Given the description of an element on the screen output the (x, y) to click on. 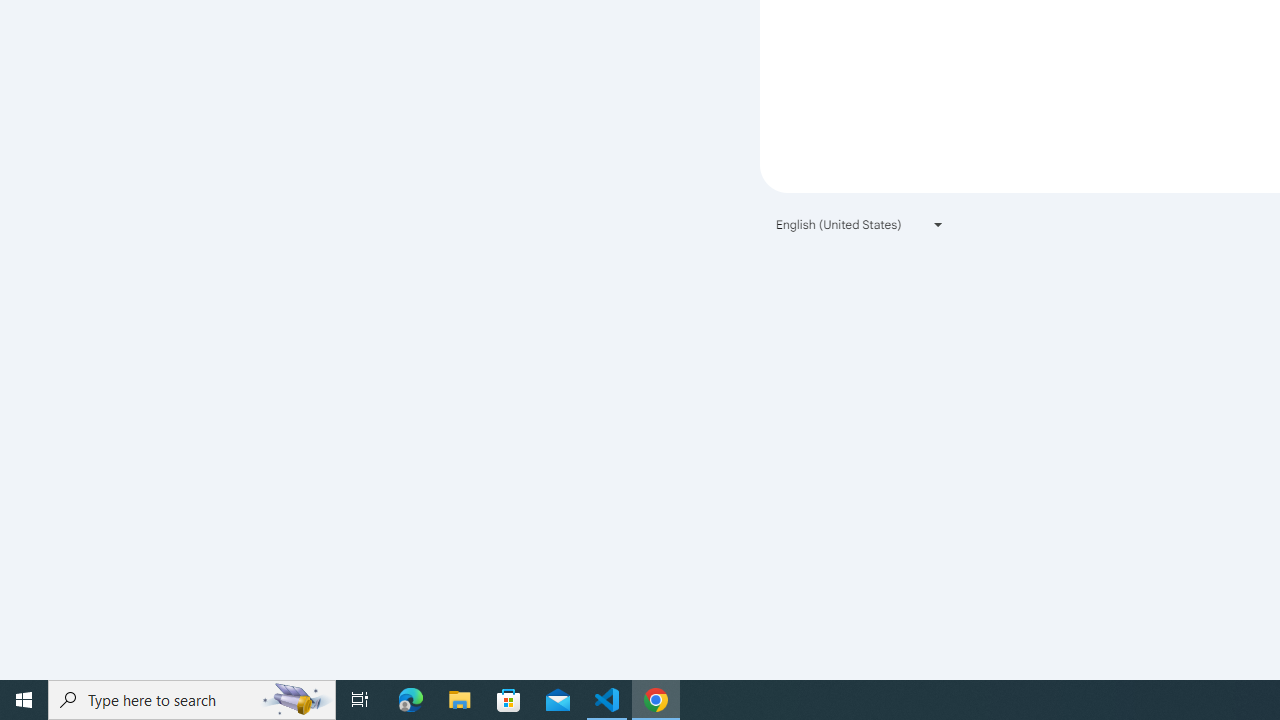
English (United States) (860, 224)
